Given the description of an element on the screen output the (x, y) to click on. 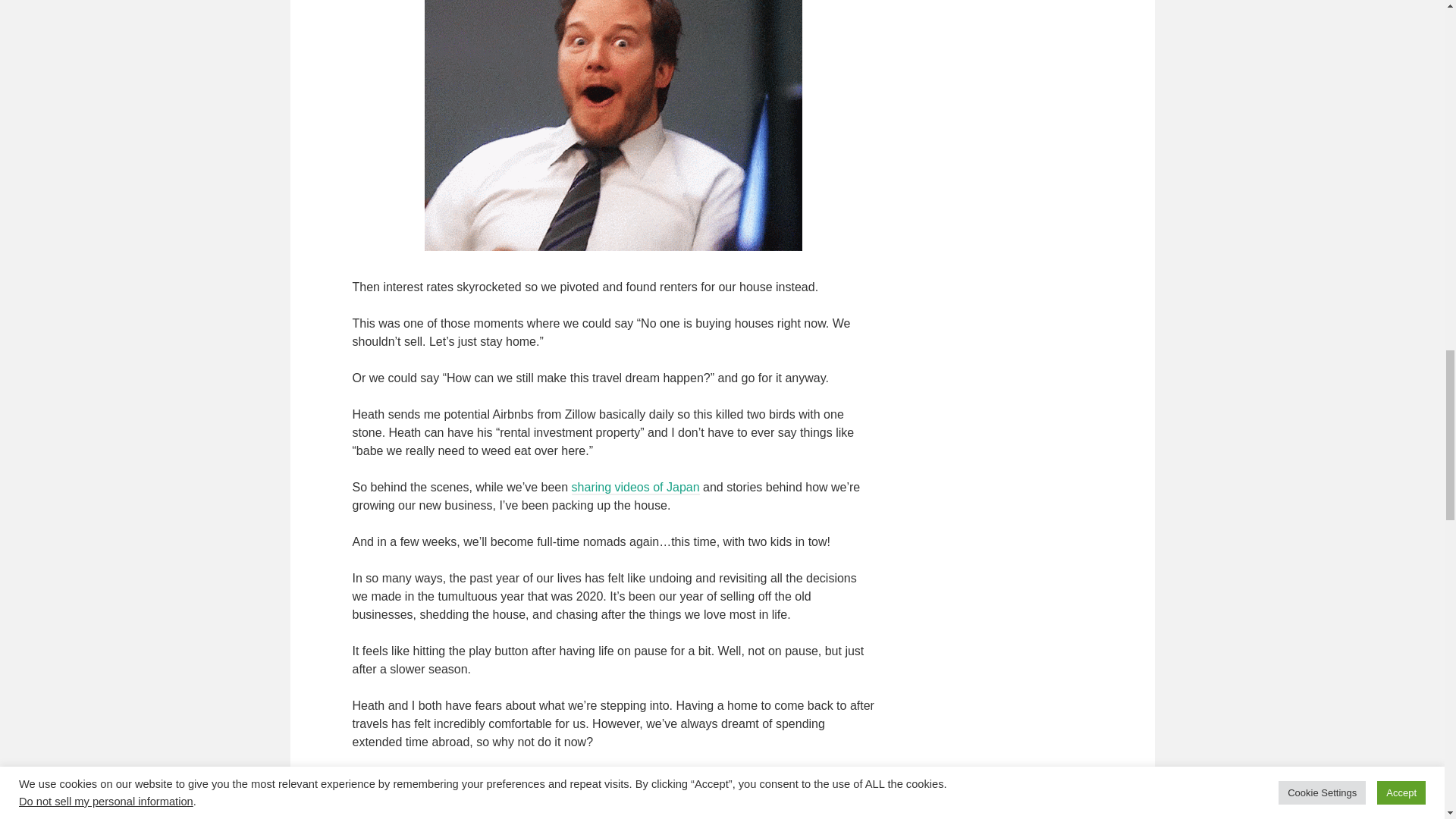
sharing videos of Japan (636, 487)
